Given the description of an element on the screen output the (x, y) to click on. 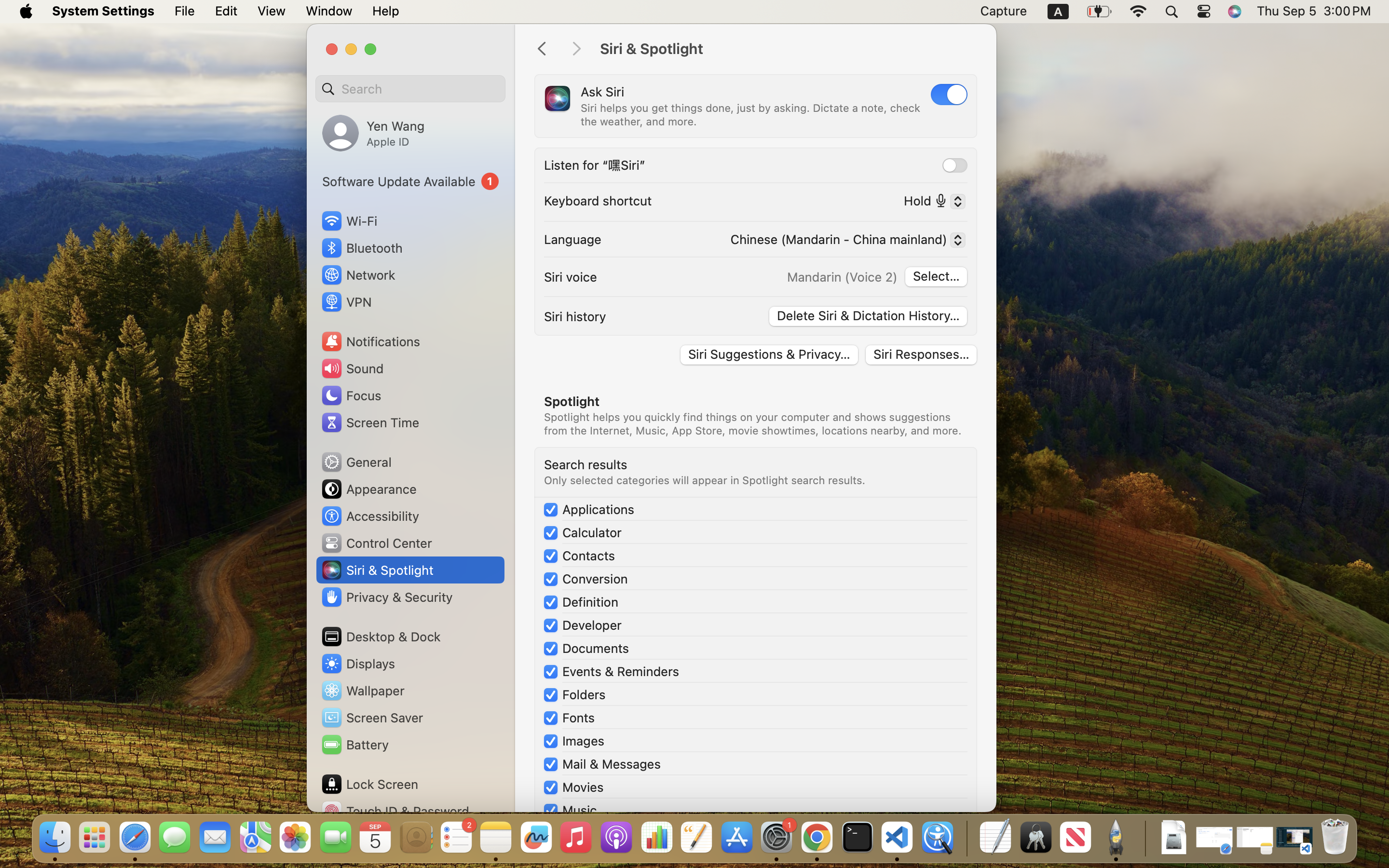
Accessibility Element type: AXStaticText (369, 515)
Listen for “嘿Siri” Element type: AXStaticText (594, 164)
0.4285714328289032 Element type: AXDockItem (965, 837)
Ask Siri Element type: AXStaticText (602, 91)
Siri & Spotlight Element type: AXStaticText (788, 49)
